Given the description of an element on the screen output the (x, y) to click on. 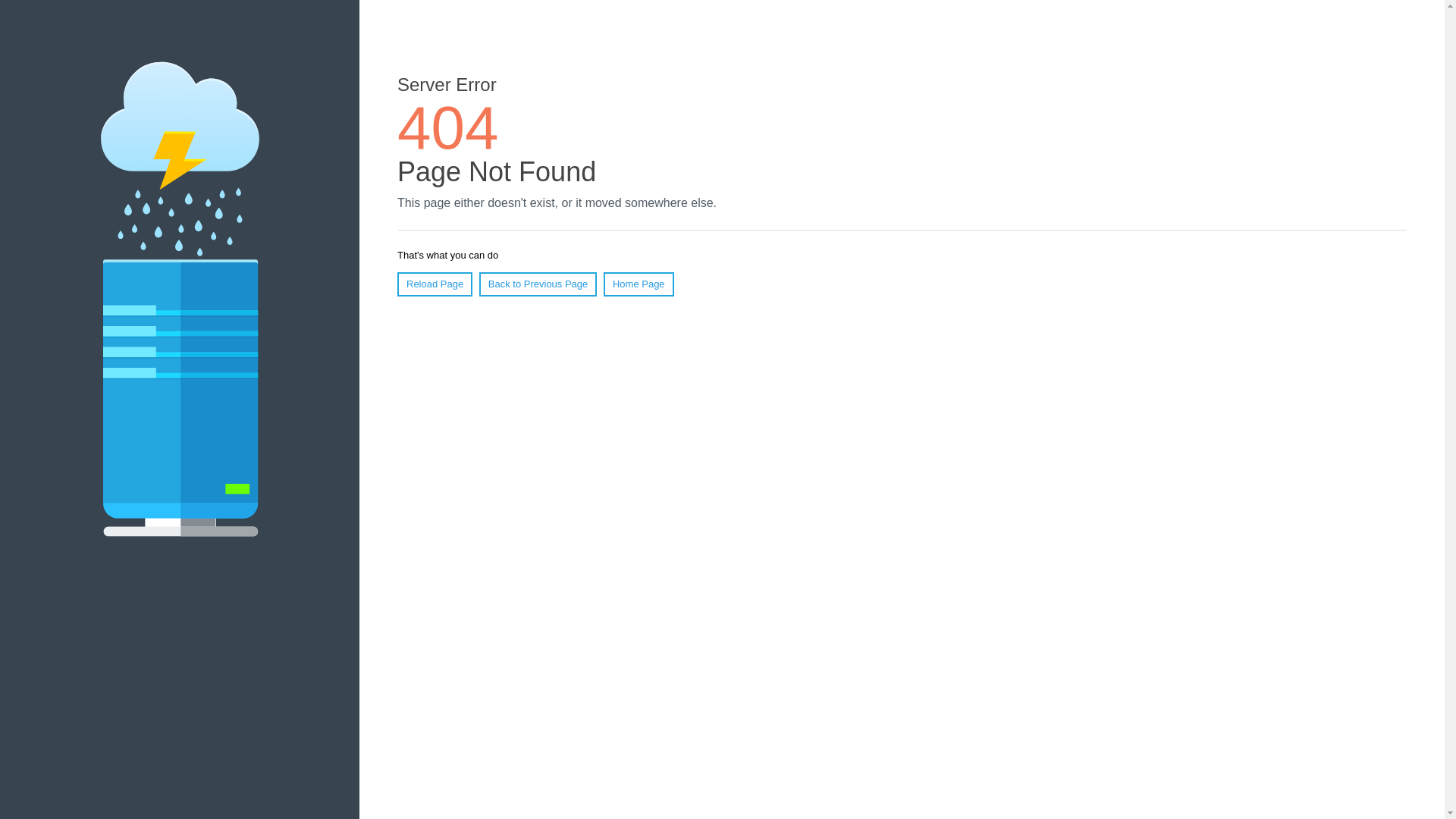
Home Page Element type: text (638, 284)
Back to Previous Page Element type: text (538, 284)
Reload Page Element type: text (434, 284)
